Given the description of an element on the screen output the (x, y) to click on. 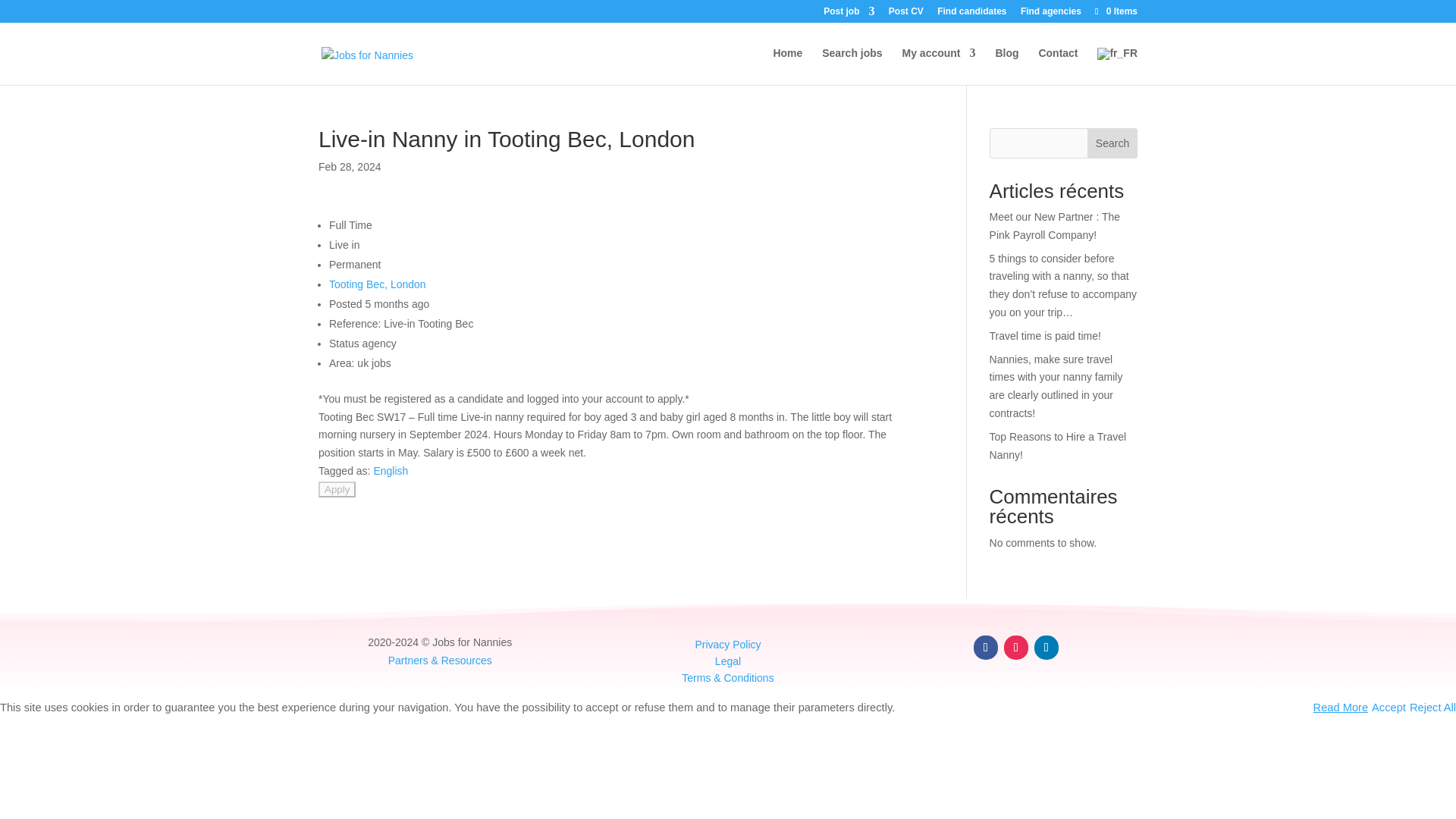
Search jobs (852, 65)
Privacy Policy (727, 644)
Tooting Bec, London (377, 284)
Home (787, 65)
Read More (1340, 707)
Travel time is paid time! (1045, 336)
Search (1112, 142)
Find agencies (1050, 14)
English (389, 470)
Accept (1388, 707)
My account (938, 65)
Follow on Instagram (1015, 647)
Find candidates (971, 14)
Meet our New Partner : The Pink Payroll Company! (1054, 225)
